Given the description of an element on the screen output the (x, y) to click on. 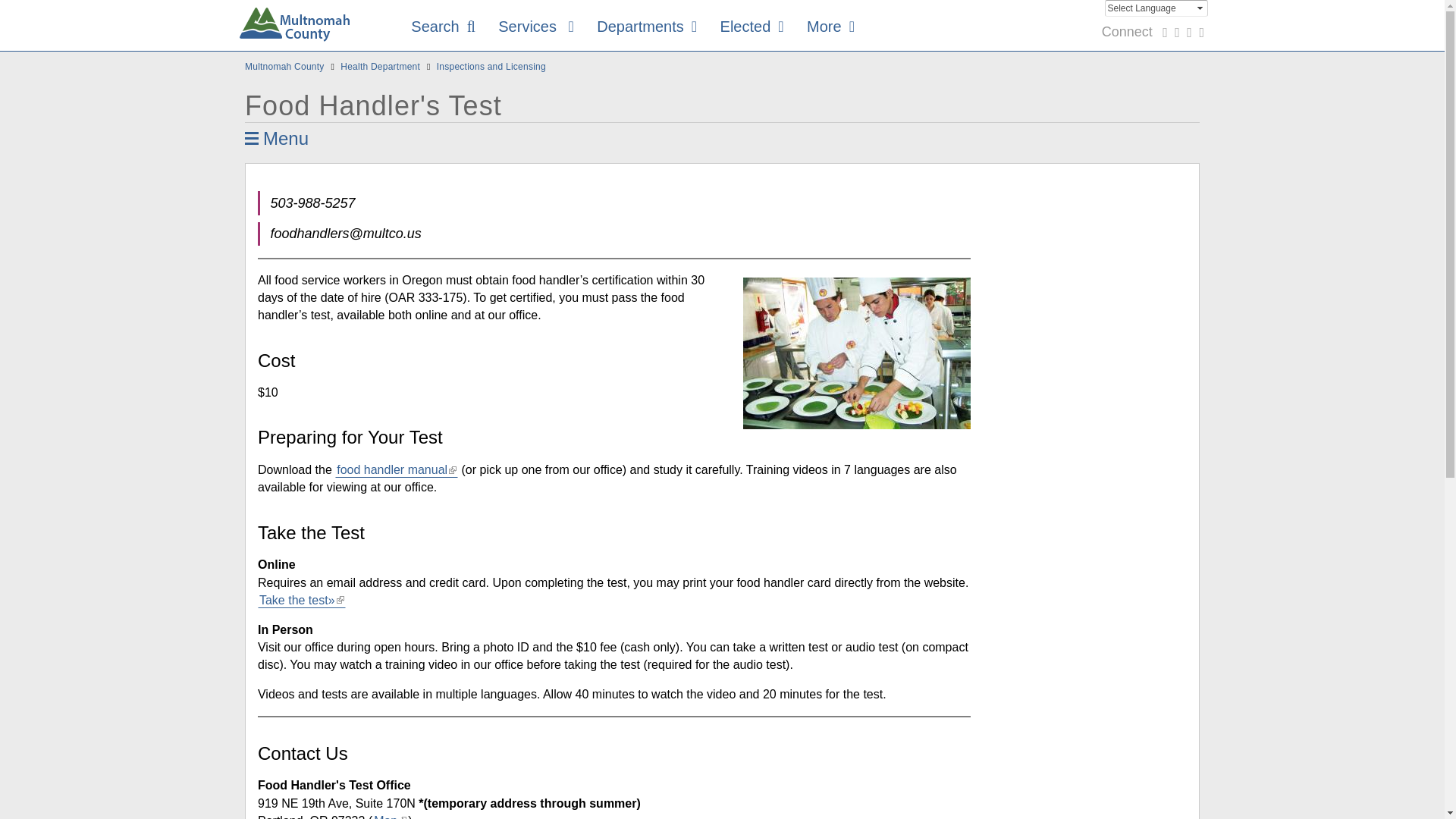
Skip to main content (55, 0)
Search (1151, 71)
Services (535, 27)
Multnomah County (294, 27)
Departments (646, 27)
Search (442, 27)
